Given the description of an element on the screen output the (x, y) to click on. 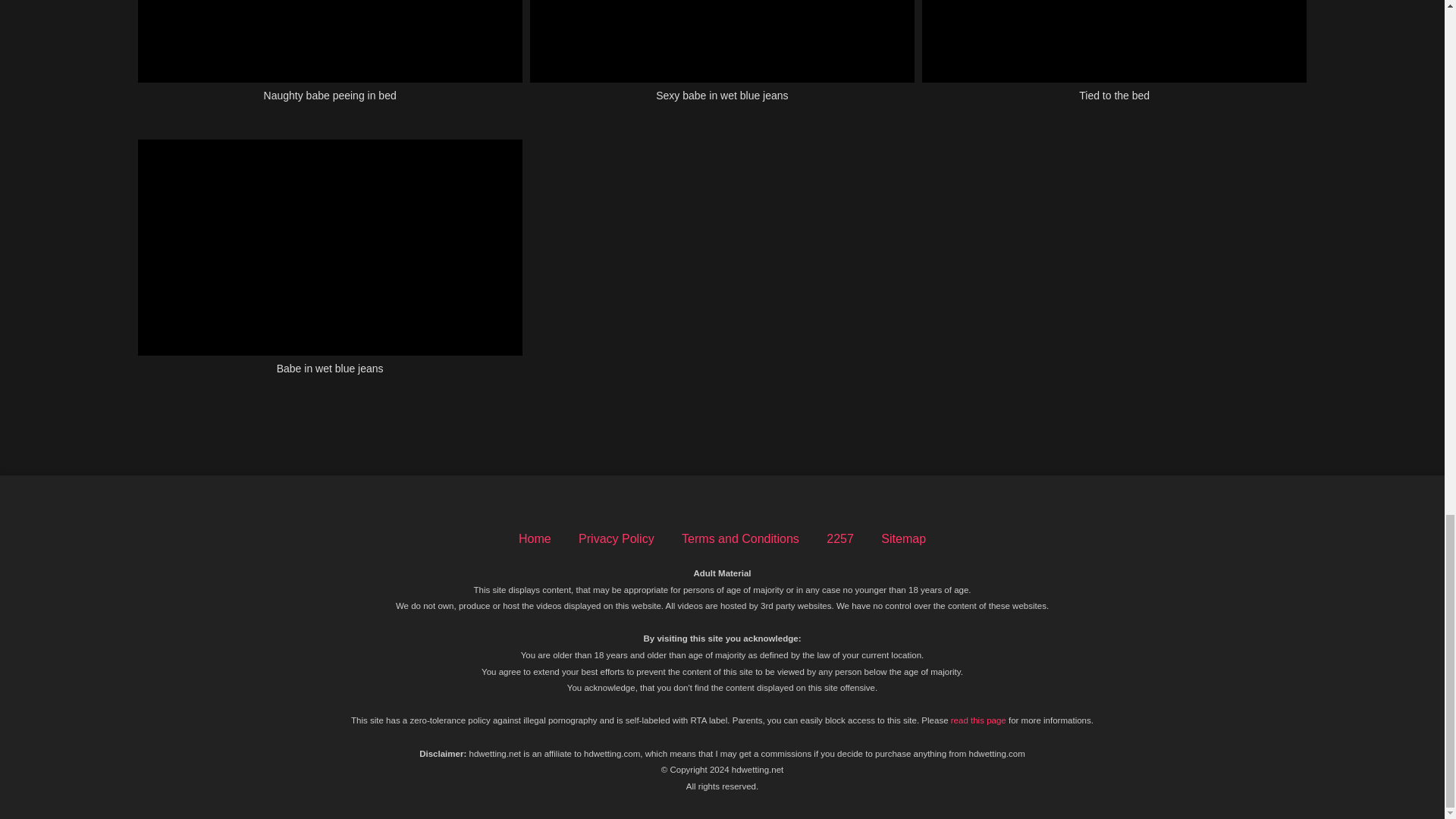
read this page (978, 719)
Sitemap (903, 538)
Sexy babe in wet blue jeans (721, 59)
Terms and Conditions (740, 538)
Naughty babe peeing in bed (330, 59)
Babe in wet blue jeans (330, 266)
Tied to the bed (1113, 59)
Privacy Policy (615, 538)
Babe in wet blue jeans (330, 266)
Home (534, 538)
